Given the description of an element on the screen output the (x, y) to click on. 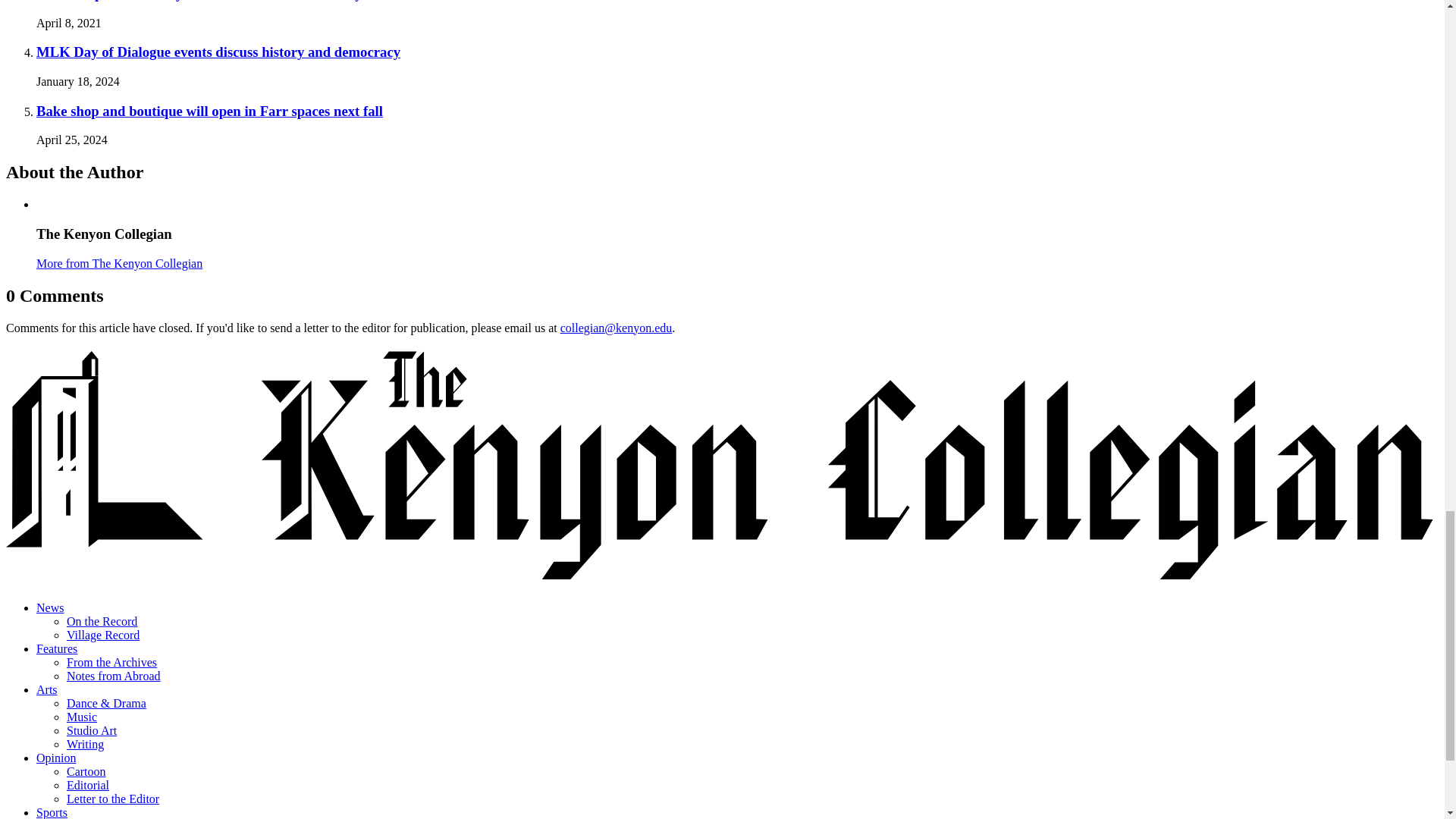
News (50, 607)
Features (56, 648)
Notes from Abroad (113, 675)
MLK Day of Dialogue events discuss history and democracy (218, 51)
From the Archives (111, 662)
Village Record (102, 634)
Arts (47, 689)
Bake shop and boutique will open in Farr spaces next fall (209, 110)
More from The Kenyon Collegian (119, 263)
On the Record (101, 621)
